Given the description of an element on the screen output the (x, y) to click on. 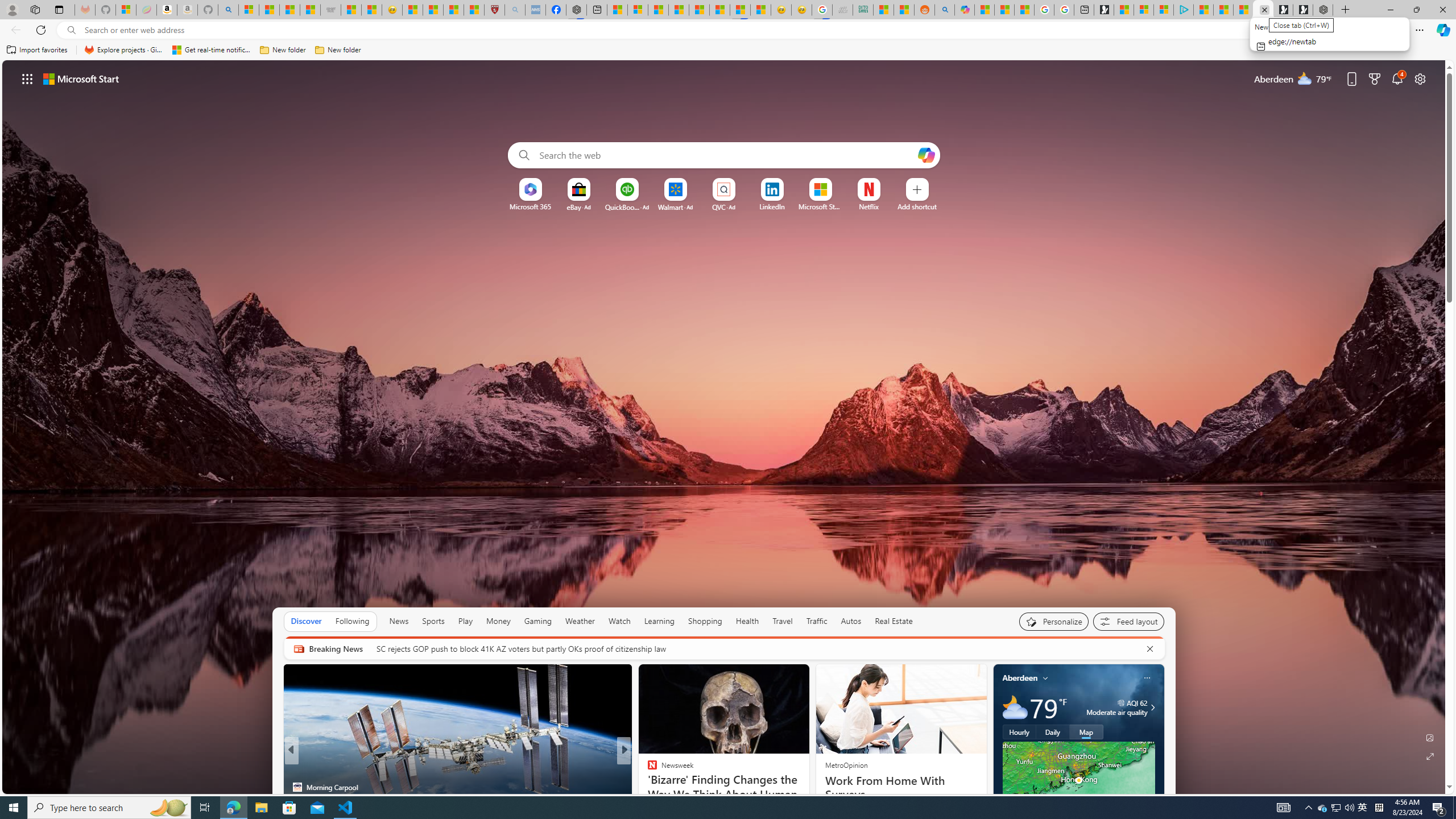
Yumophile (647, 786)
Autos (850, 621)
Mostly cloudy (1014, 707)
